Given the description of an element on the screen output the (x, y) to click on. 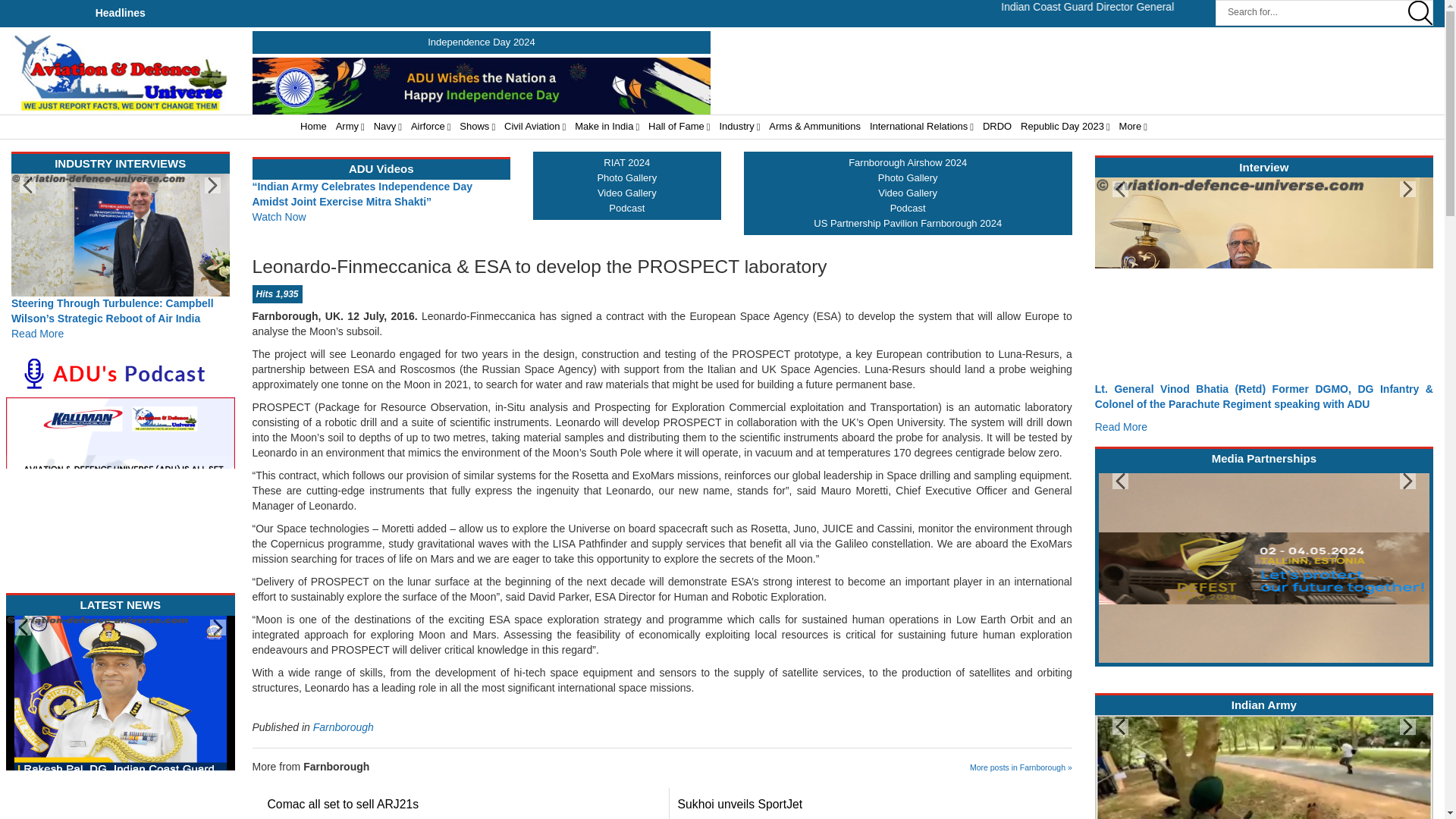
Army (350, 126)
View all posts in Farnborough (343, 727)
Search (1323, 12)
Home (313, 126)
Independence Day 2024 (481, 41)
